Given the description of an element on the screen output the (x, y) to click on. 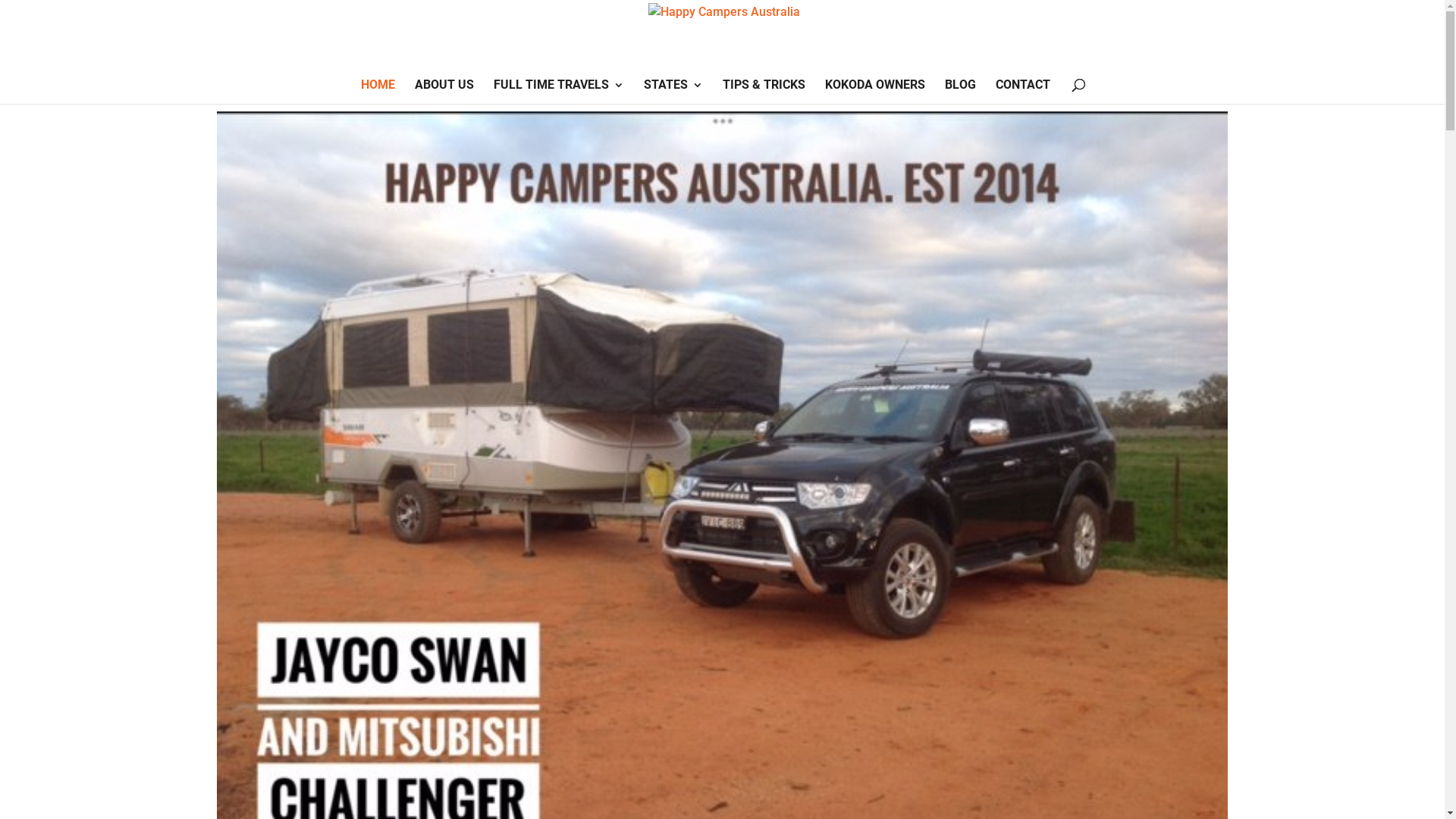
FULL TIME TRAVELS Element type: text (558, 91)
BLOG Element type: text (959, 91)
TIPS & TRICKS Element type: text (763, 91)
HOME Element type: text (377, 91)
STATES Element type: text (672, 91)
ABOUT US Element type: text (443, 91)
KOKODA OWNERS Element type: text (875, 91)
CONTACT Element type: text (1022, 91)
